Given the description of an element on the screen output the (x, y) to click on. 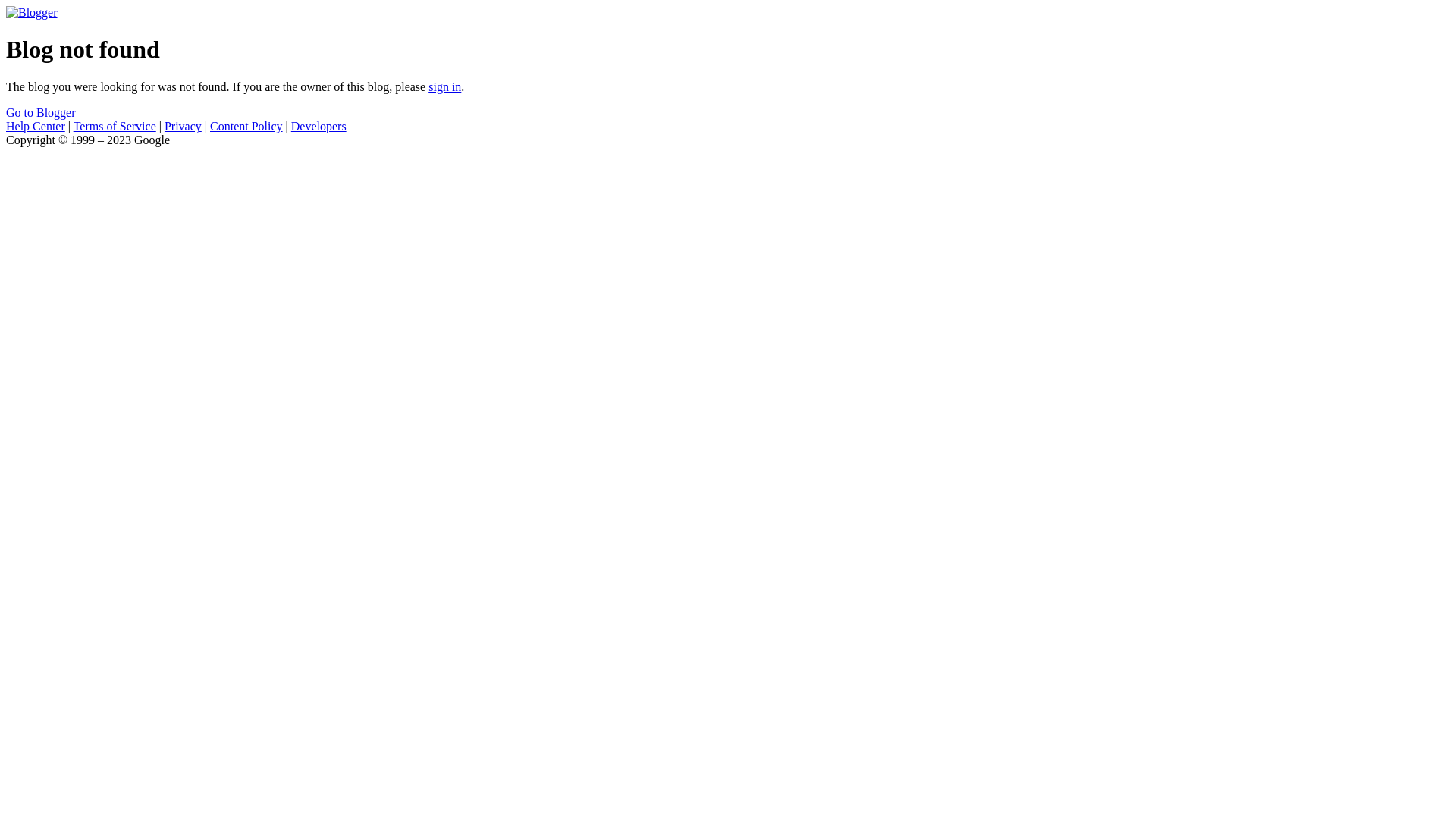
Privacy Element type: text (182, 125)
sign in Element type: text (444, 86)
Developers Element type: text (318, 125)
Go to Blogger Element type: text (40, 112)
Blogger home Element type: hover (31, 12)
Help Center Element type: text (35, 125)
Terms of Service Element type: text (114, 125)
Content Policy Element type: text (246, 125)
